Given the description of an element on the screen output the (x, y) to click on. 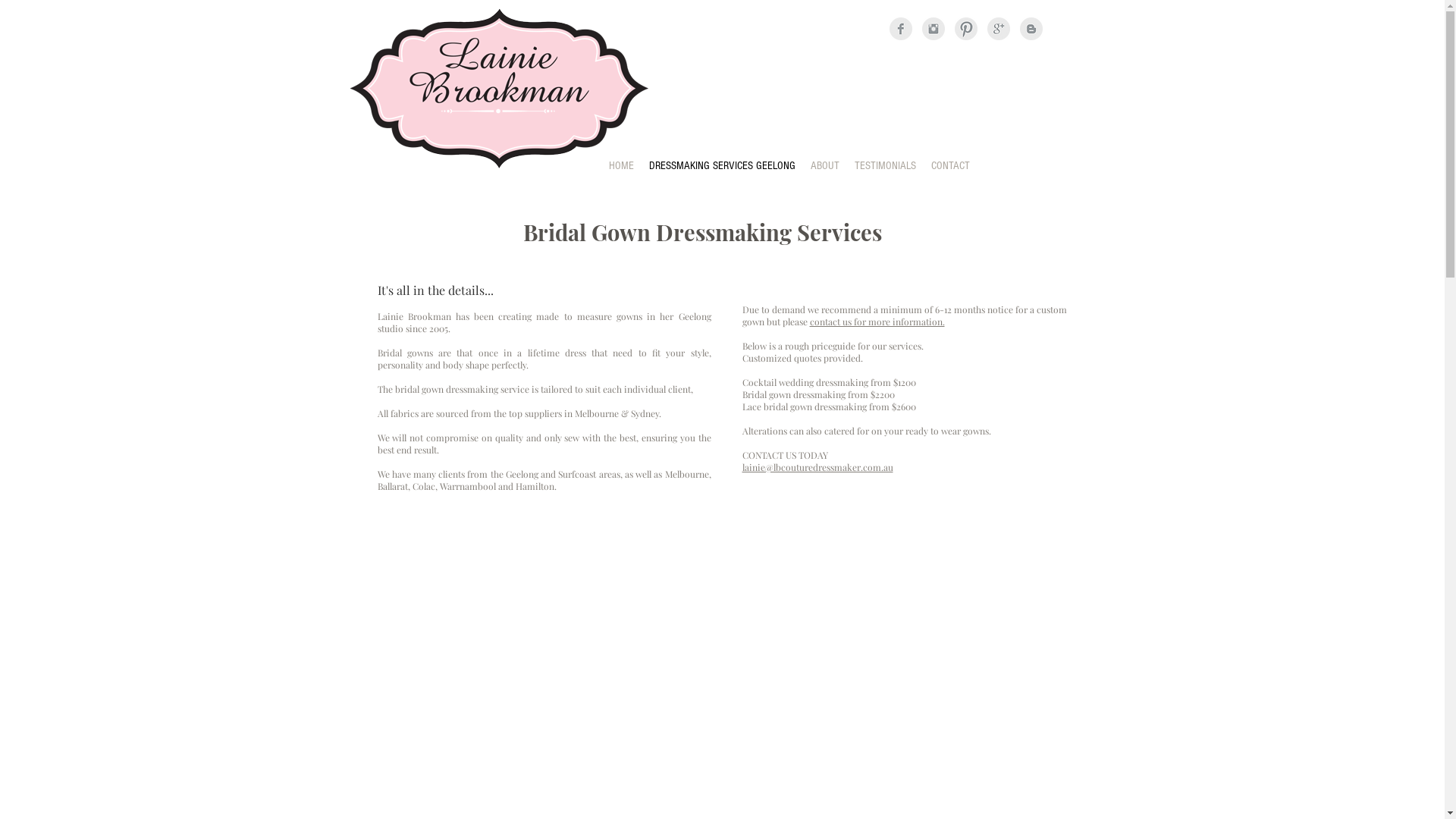
CONTACT Element type: text (950, 165)
TESTIMONIALS Element type: text (884, 165)
lainie@lbcouturedressmaker.com.au Element type: text (816, 467)
ABOUT Element type: text (824, 165)
Bridal dressmaker geelong Element type: hover (498, 86)
HOME Element type: text (620, 165)
contact us for more information. Element type: text (876, 321)
DRESSMAKING SERVICES GEELONG Element type: text (722, 165)
